Given the description of an element on the screen output the (x, y) to click on. 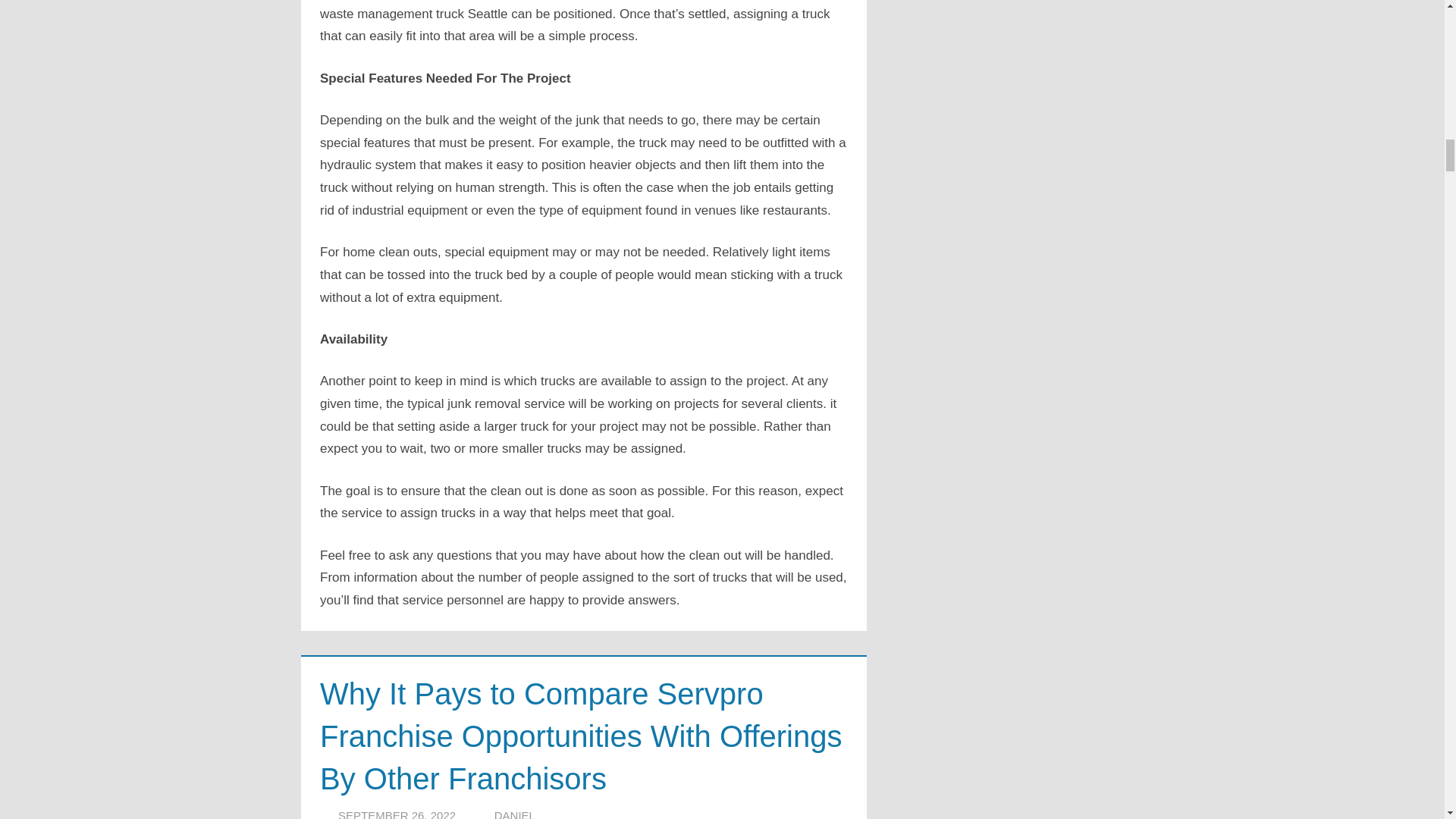
DANIEL (515, 814)
SEPTEMBER 26, 2022 (396, 814)
View all posts by Daniel (515, 814)
12:40 pm (396, 814)
